Given the description of an element on the screen output the (x, y) to click on. 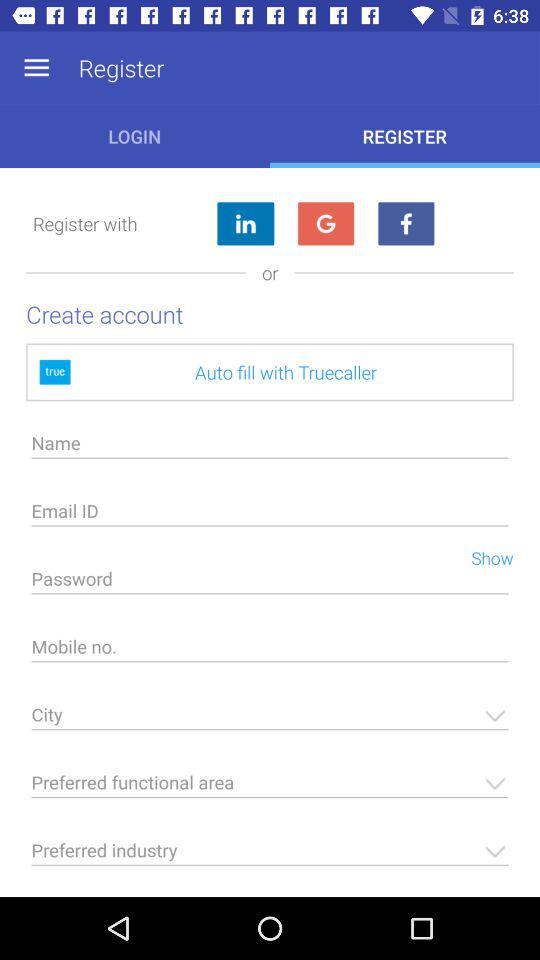
select preferred industry (269, 855)
